Given the description of an element on the screen output the (x, y) to click on. 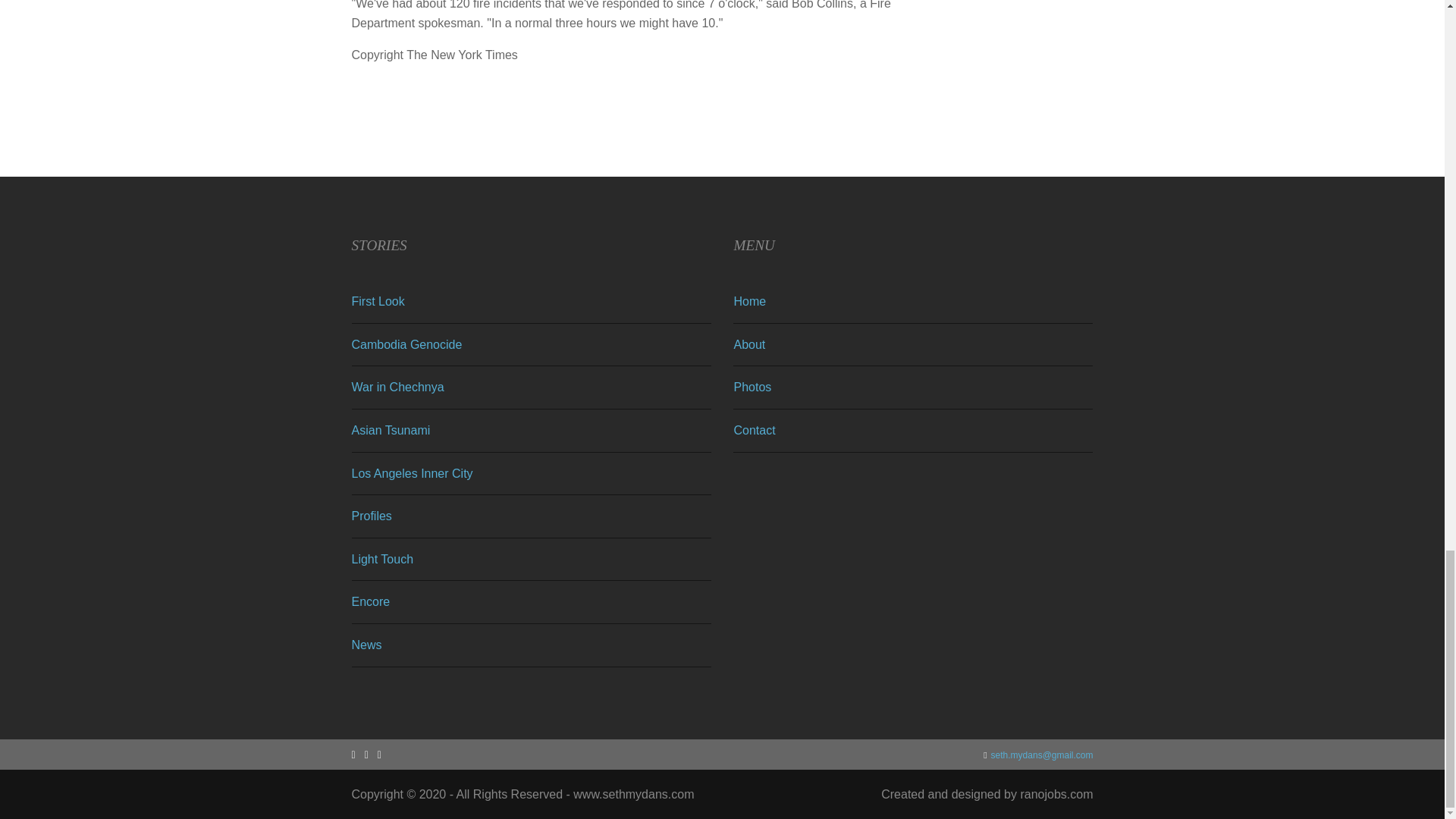
Photos (752, 386)
Los Angeles Inner City (412, 472)
Light Touch (382, 558)
Asian Tsunami (391, 430)
Home (749, 300)
About (749, 344)
Contact (753, 430)
Cambodia Genocide (407, 344)
First Look (378, 300)
Encore (371, 601)
